Given the description of an element on the screen output the (x, y) to click on. 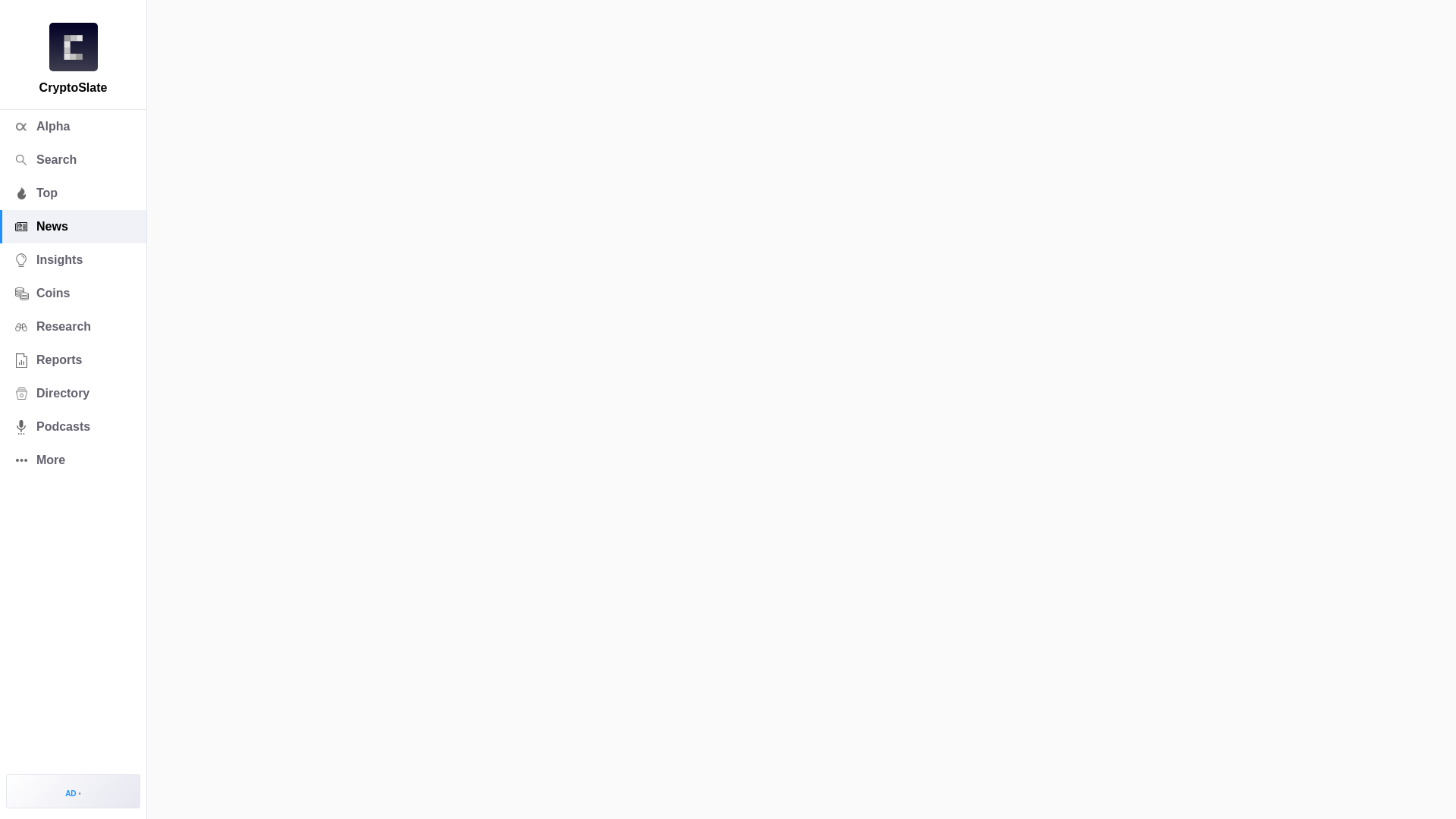
Insights (73, 259)
Reports (73, 359)
Alpha (73, 126)
Directory (73, 393)
Coins (73, 293)
Podcasts (73, 426)
 CryptoSlate (72, 46)
Research (73, 326)
Top (73, 192)
News (73, 226)
